Given the description of an element on the screen output the (x, y) to click on. 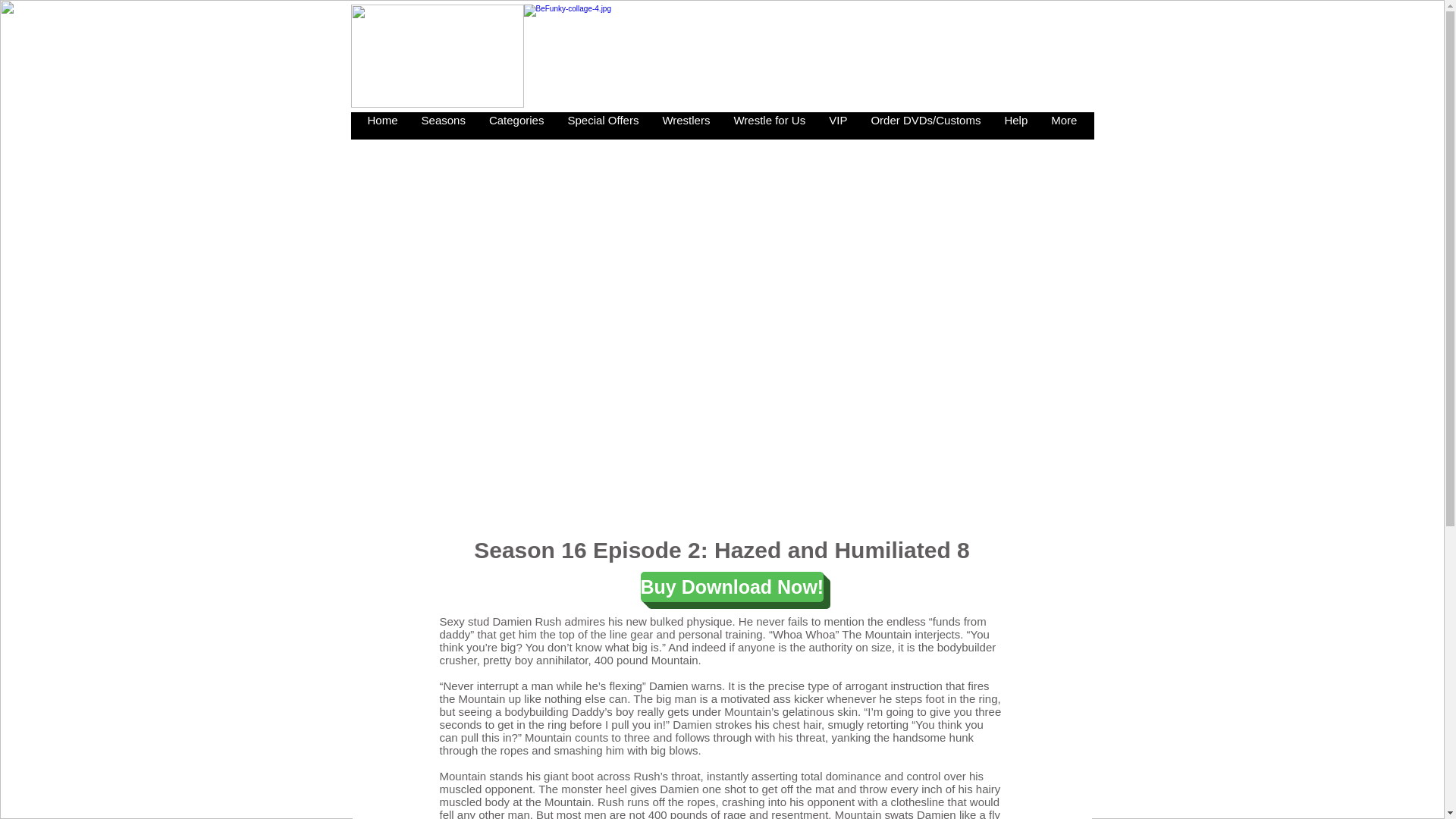
Wrestle for Us (768, 125)
Special Offers (601, 125)
Buy Download Now! (732, 586)
Seasons (443, 125)
Home (382, 125)
VIP (837, 125)
Wrestlers (684, 125)
Help (1015, 125)
